Given the description of an element on the screen output the (x, y) to click on. 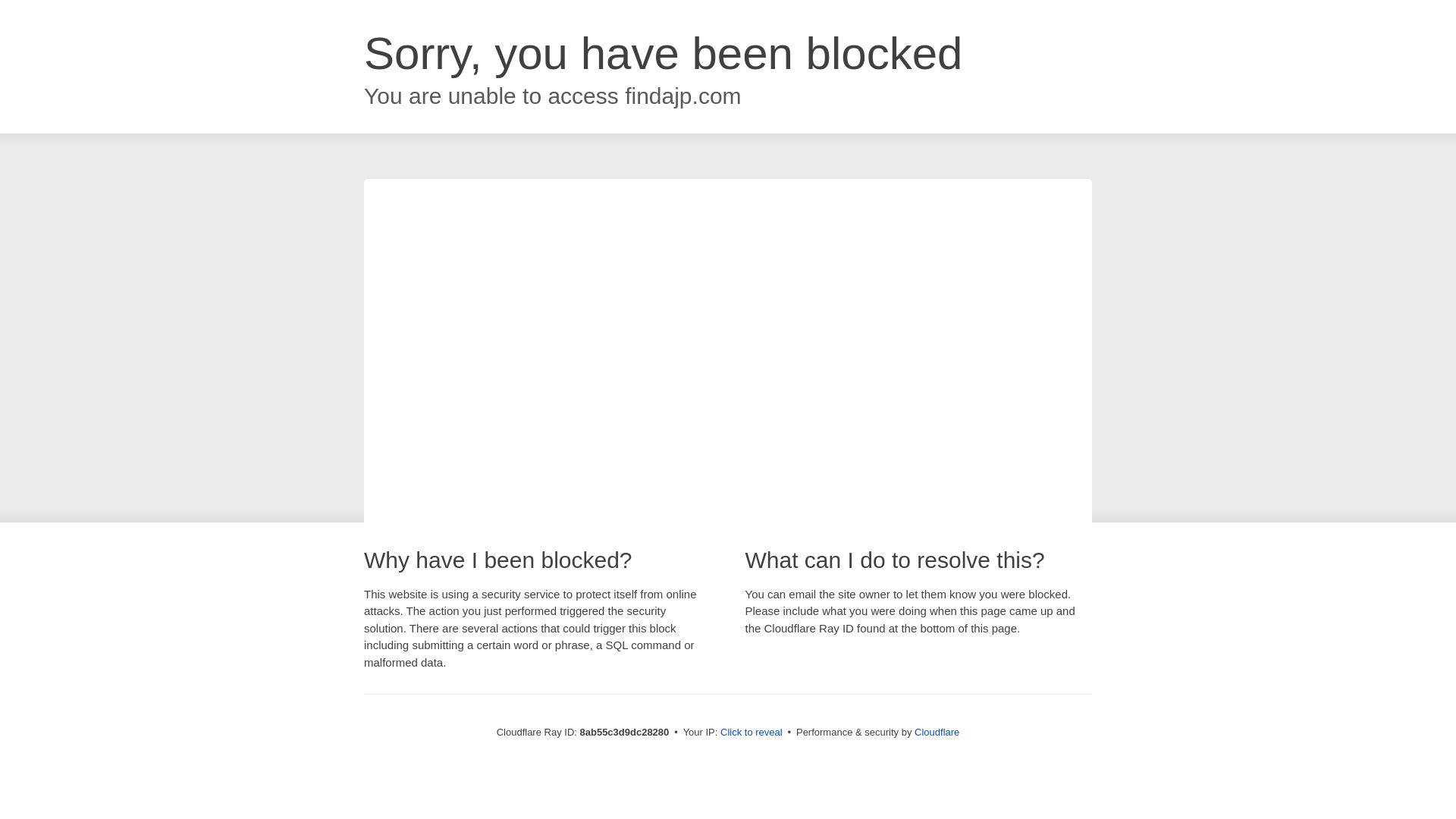
Cloudflare (936, 731)
Click to reveal (751, 732)
